Given the description of an element on the screen output the (x, y) to click on. 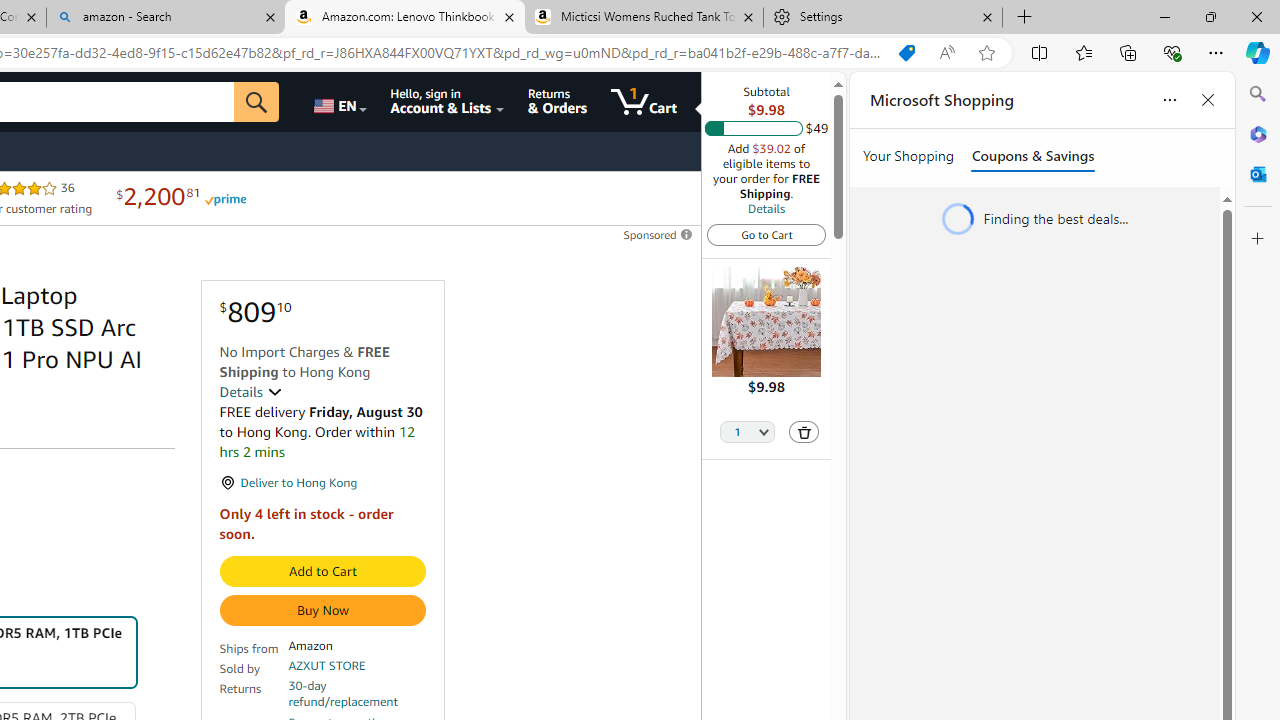
Returns & Orders (557, 101)
Outlook (1258, 174)
Choose a language for shopping. (339, 101)
Quantity Selector (747, 433)
Details (765, 208)
amazon - Search (166, 17)
